Given the description of an element on the screen output the (x, y) to click on. 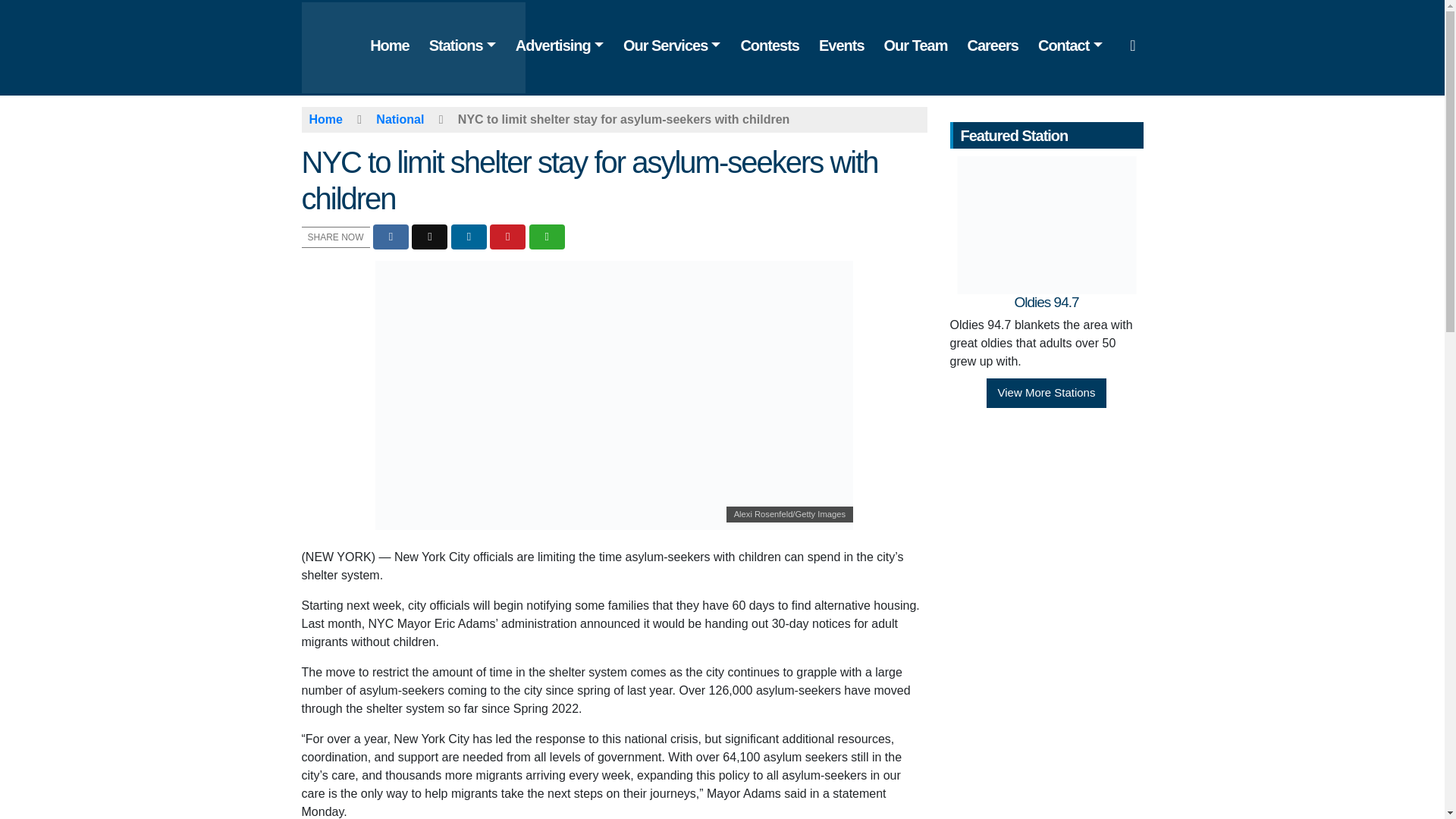
Oxford Media Group (424, 46)
Share to LinkedIn (468, 236)
Share to Facebook (390, 236)
Share to Pinterest (507, 236)
Share to X (429, 236)
Share via E-Mail (546, 236)
